Given the description of an element on the screen output the (x, y) to click on. 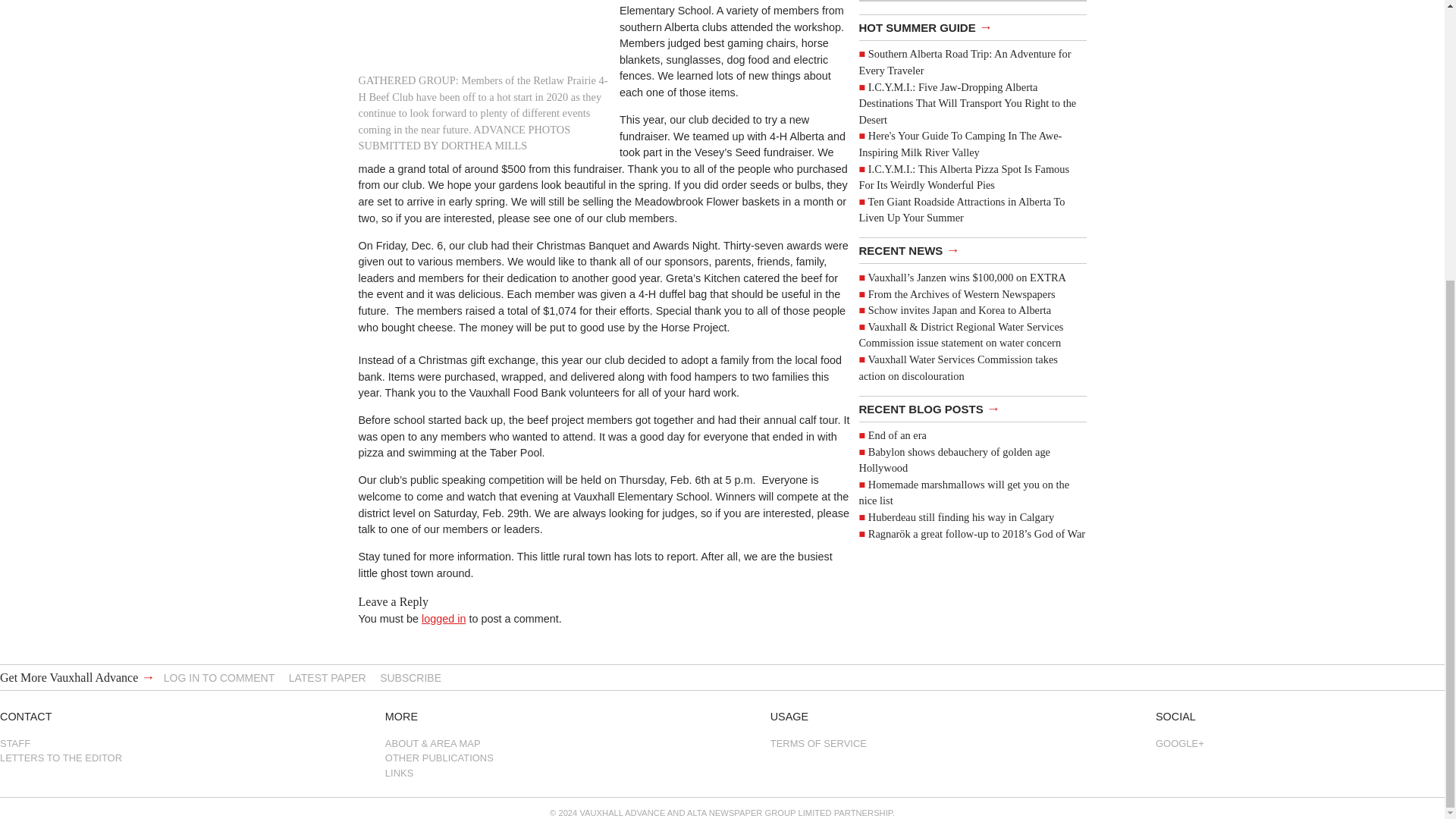
End of an era (896, 435)
Southern Alberta Road Trip: An Adventure for Every Traveler (964, 61)
Babylon shows debauchery of golden age Hollywood (954, 460)
From the Archives of Western Newspapers (961, 294)
Schow invites Japan and Korea to Alberta (959, 309)
